Given the description of an element on the screen output the (x, y) to click on. 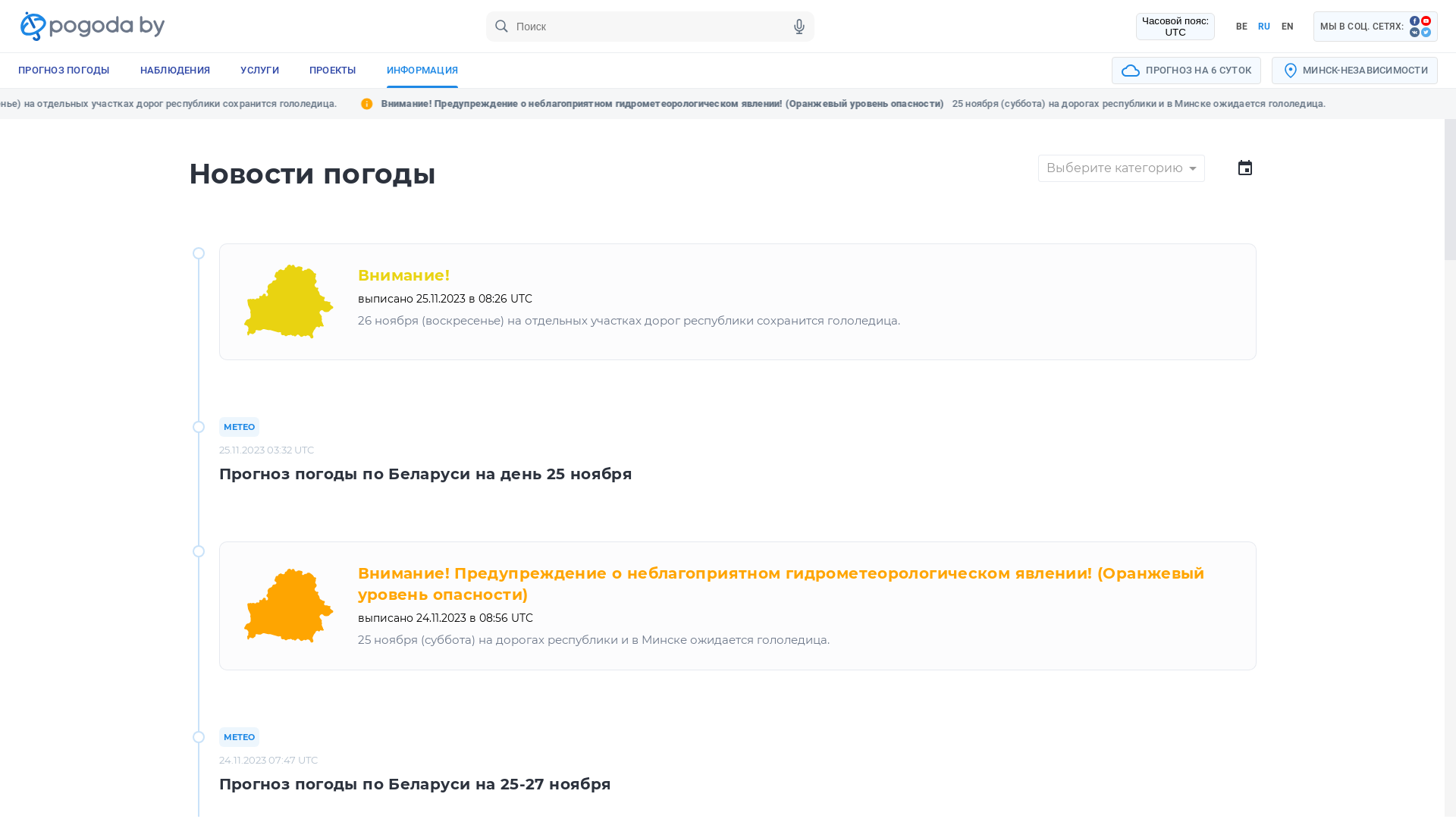
EN Element type: text (1286, 25)
BE Element type: text (1241, 25)
RU Element type: text (1263, 25)
